Given the description of an element on the screen output the (x, y) to click on. 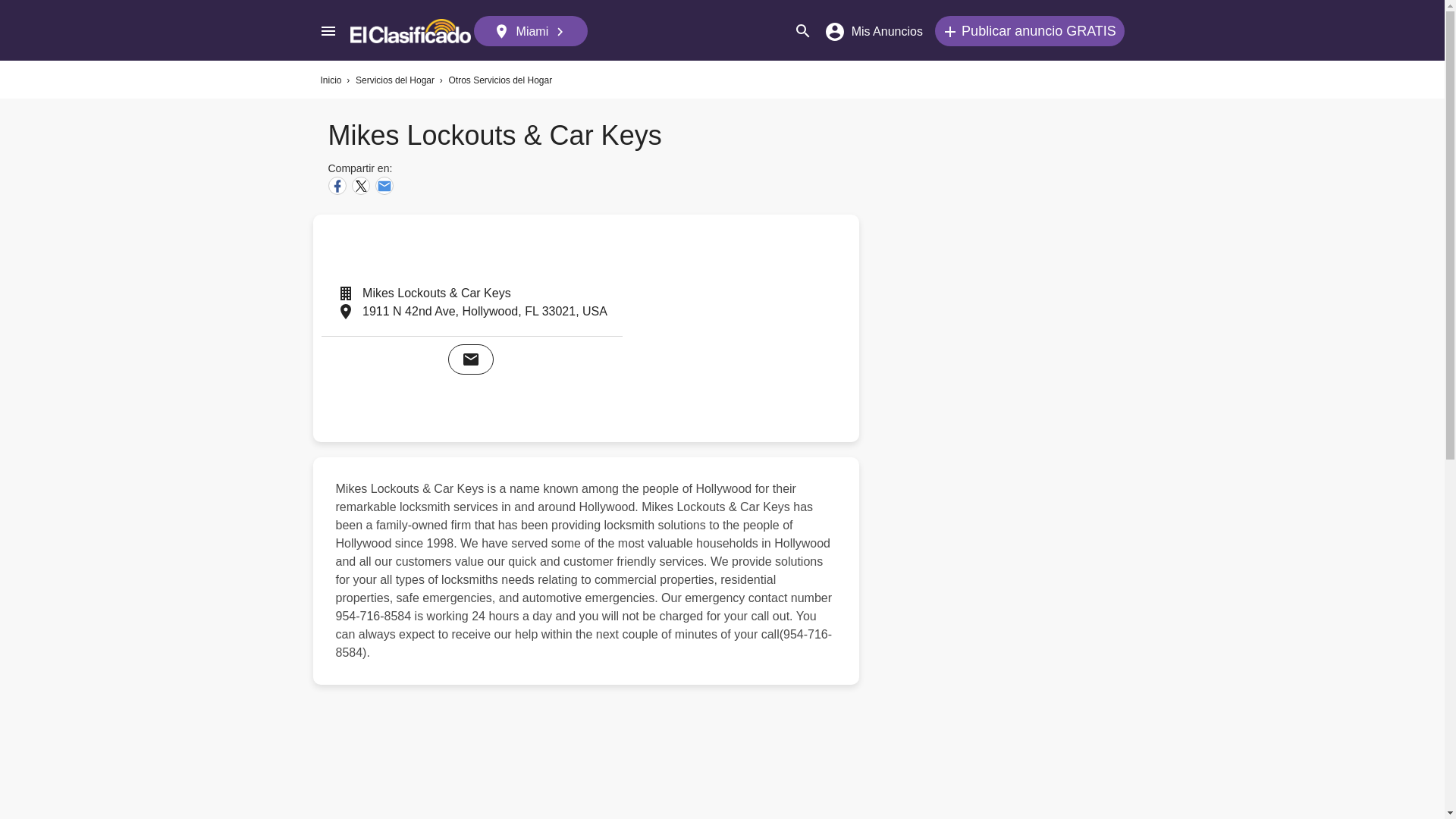
Advertisement (589, 759)
Enviar a un amigo (384, 185)
Publicar avisos y vender sus cosas (1029, 30)
mapa de 1911 N 42nd Ave, Hollywood, FL 33021, USA (744, 328)
